Given the description of an element on the screen output the (x, y) to click on. 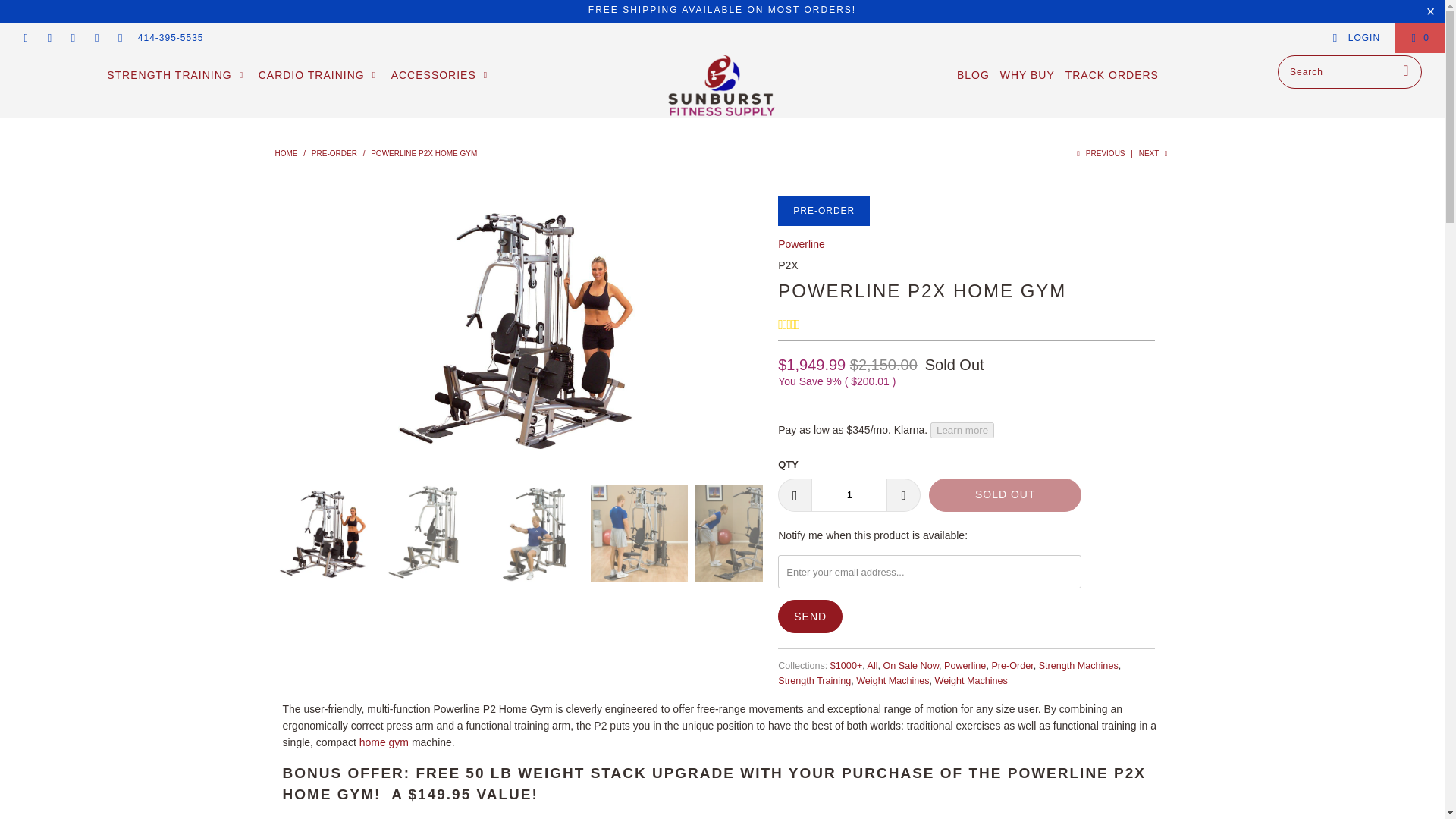
Sunburst Fitness Supply on Facebook (48, 37)
Sunburst Fitness Supply (722, 85)
Send (810, 616)
Sunburst Fitness Supply on Instagram (94, 37)
Powerline (800, 244)
1 (848, 494)
Sunburst Fitness Supply (286, 153)
Email Sunburst Fitness Supply (119, 37)
Sunburst Fitness Supply on Pinterest (71, 37)
Pre-Order (333, 153)
Previous (1099, 153)
My Account  (1355, 37)
Sunburst Fitness Supply on Twitter (25, 37)
Next (1154, 153)
All (872, 665)
